Given the description of an element on the screen output the (x, y) to click on. 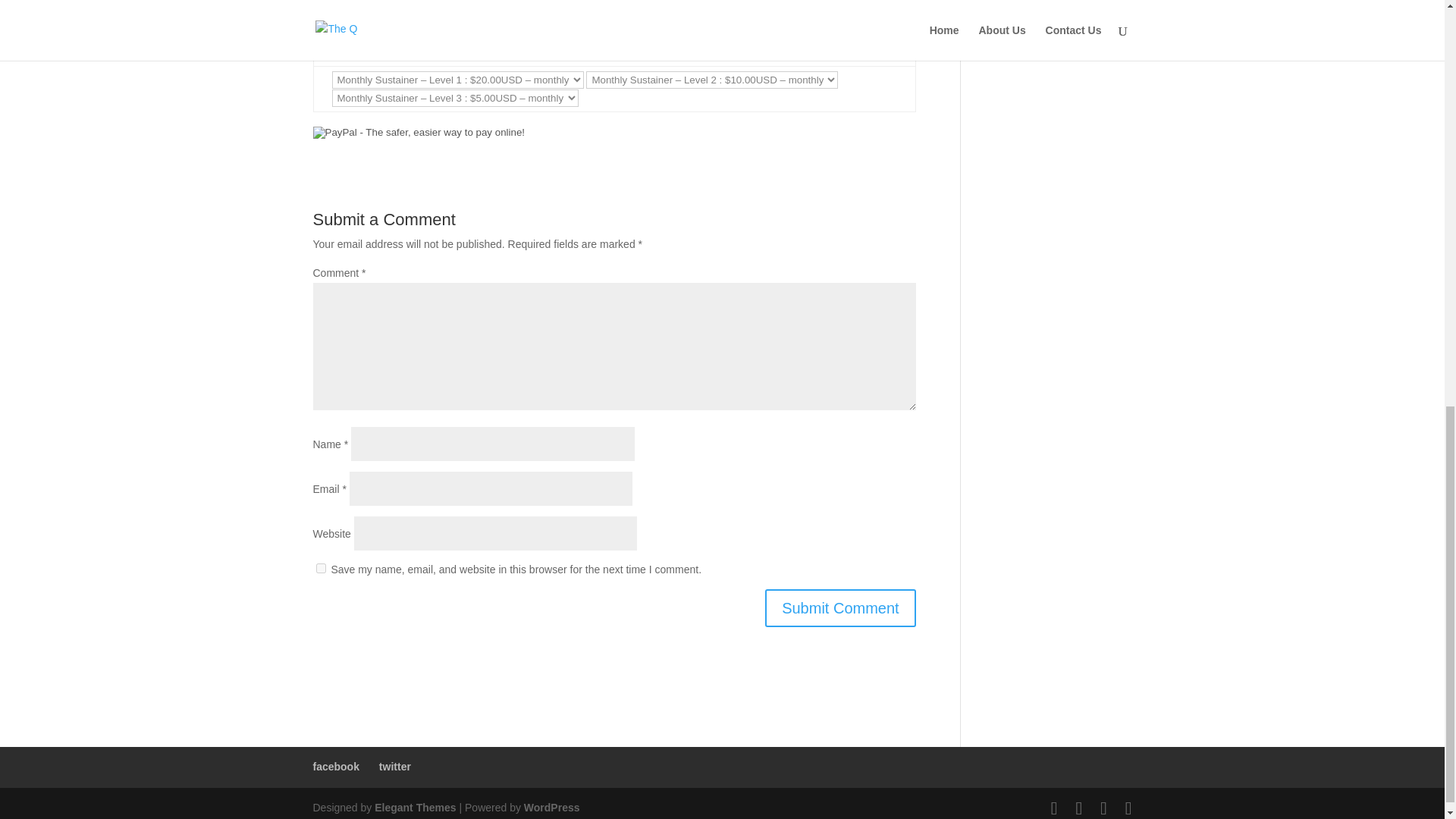
Premium WordPress Themes (414, 807)
twitter (394, 766)
yes (319, 568)
Submit Comment (840, 607)
facebook (335, 766)
WordPress (551, 807)
Elegant Themes (414, 807)
Submit Comment (840, 607)
